Given the description of an element on the screen output the (x, y) to click on. 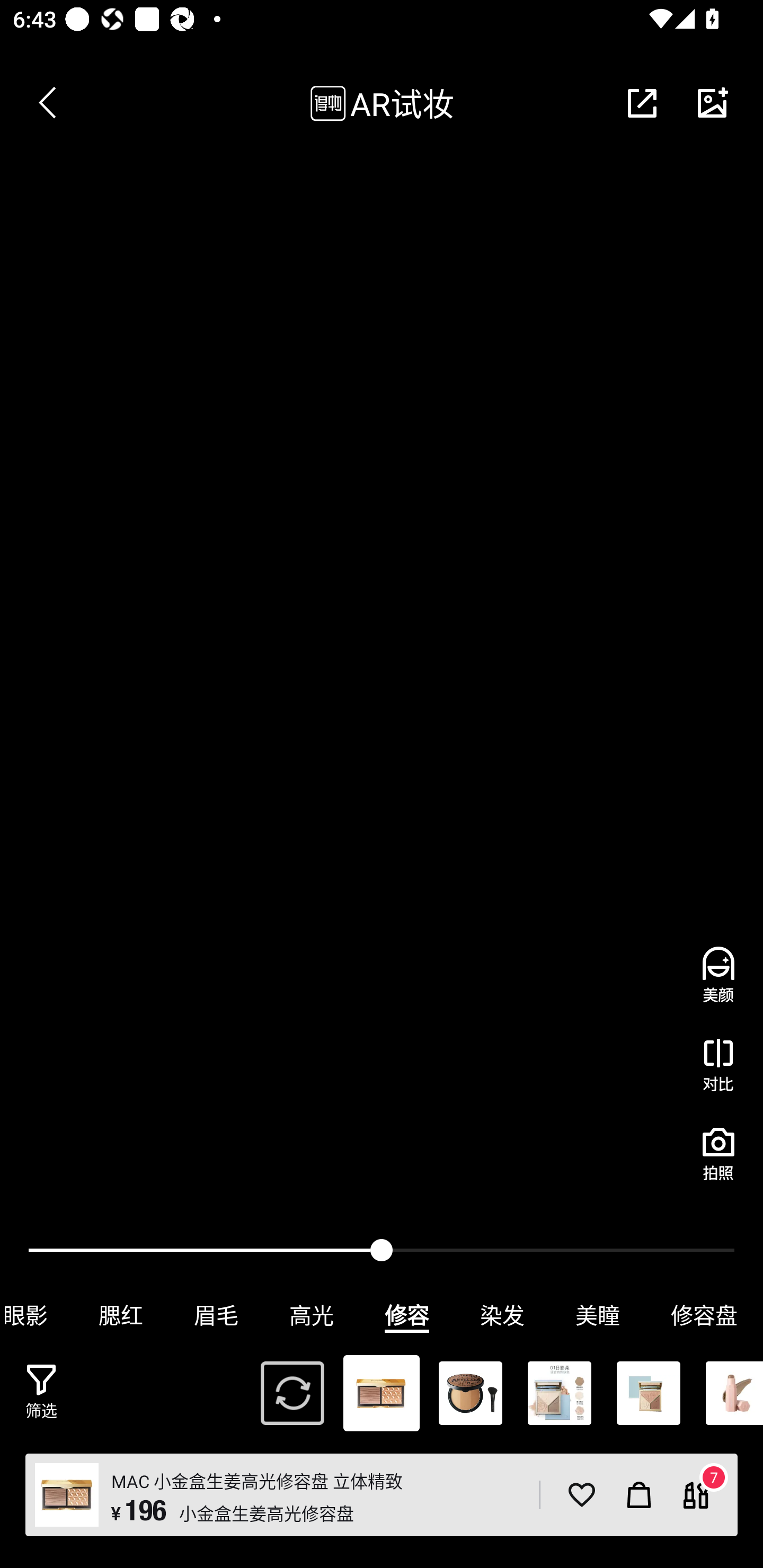
眼影 (36, 1315)
腮红 (120, 1315)
眉毛 (215, 1315)
高光 (311, 1315)
修容 (406, 1315)
染发 (502, 1315)
美瞳 (597, 1315)
修容盘 (704, 1315)
筛选 (41, 1392)
MAC 小金盒生姜高光修容盘 立体精致 ¥ 196 小金盒生姜高光修容盘 7 (381, 1494)
